Given the description of an element on the screen output the (x, y) to click on. 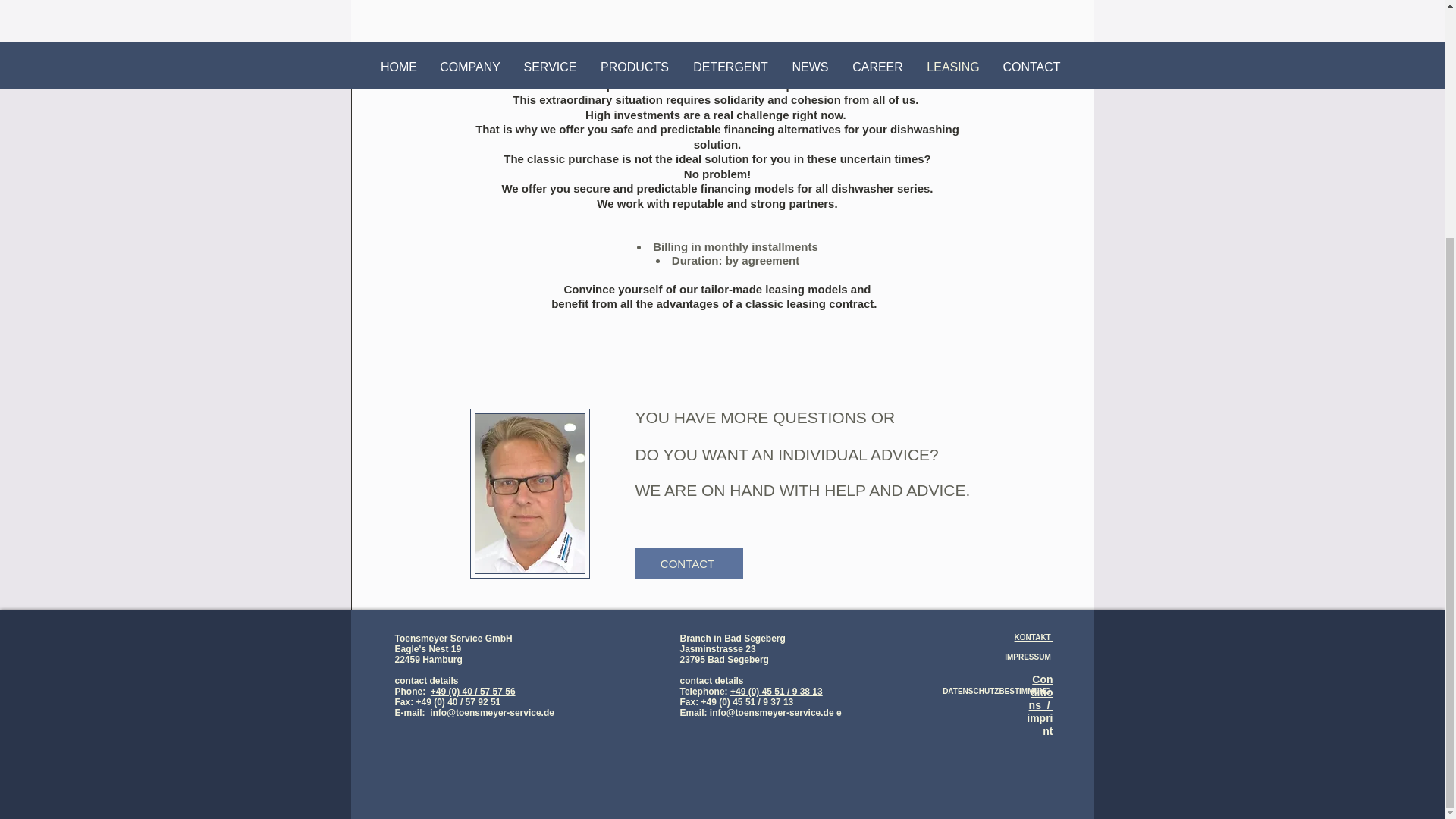
CONTACT (688, 562)
IMPRESSUM  (1028, 656)
KONTAKT  (1033, 637)
DATENSCHUTZBESTIMMUNG  (997, 691)
